Given the description of an element on the screen output the (x, y) to click on. 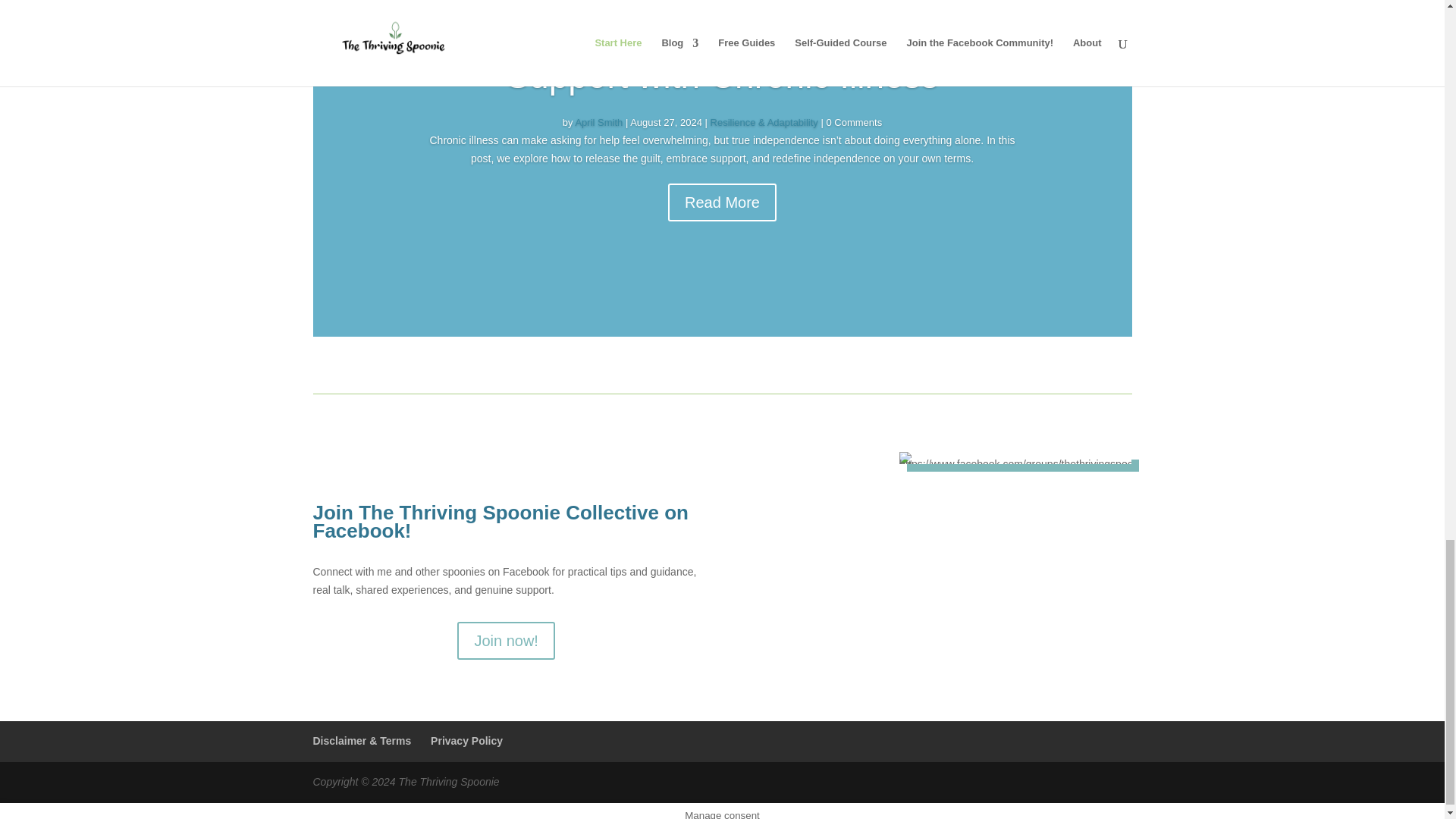
April Smith (599, 122)
Posts by April Smith (599, 122)
Read More (722, 202)
Privacy Policy (466, 740)
Join now! (505, 640)
